Given the description of an element on the screen output the (x, y) to click on. 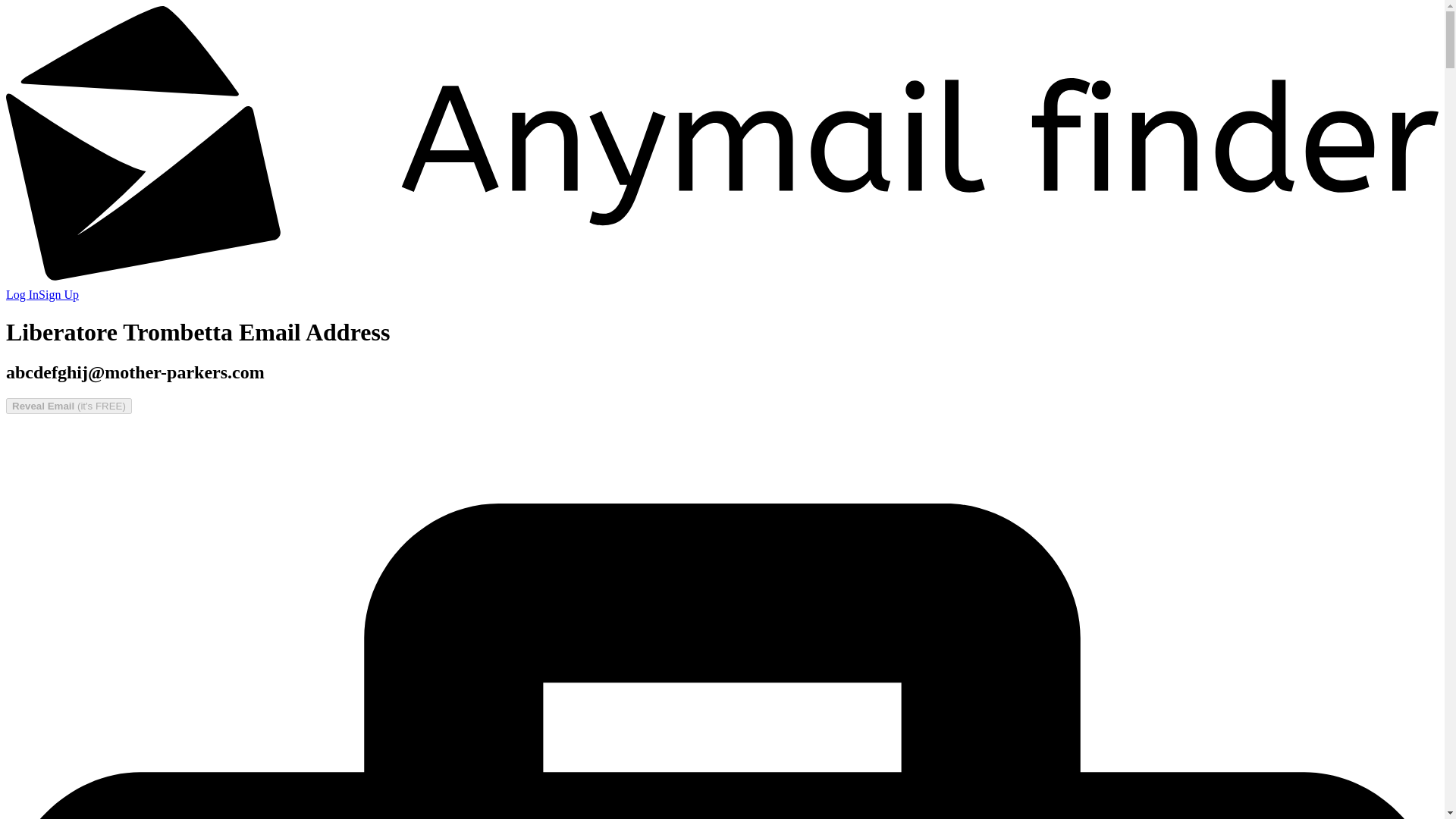
Log In (22, 294)
Sign Up (58, 294)
